Given the description of an element on the screen output the (x, y) to click on. 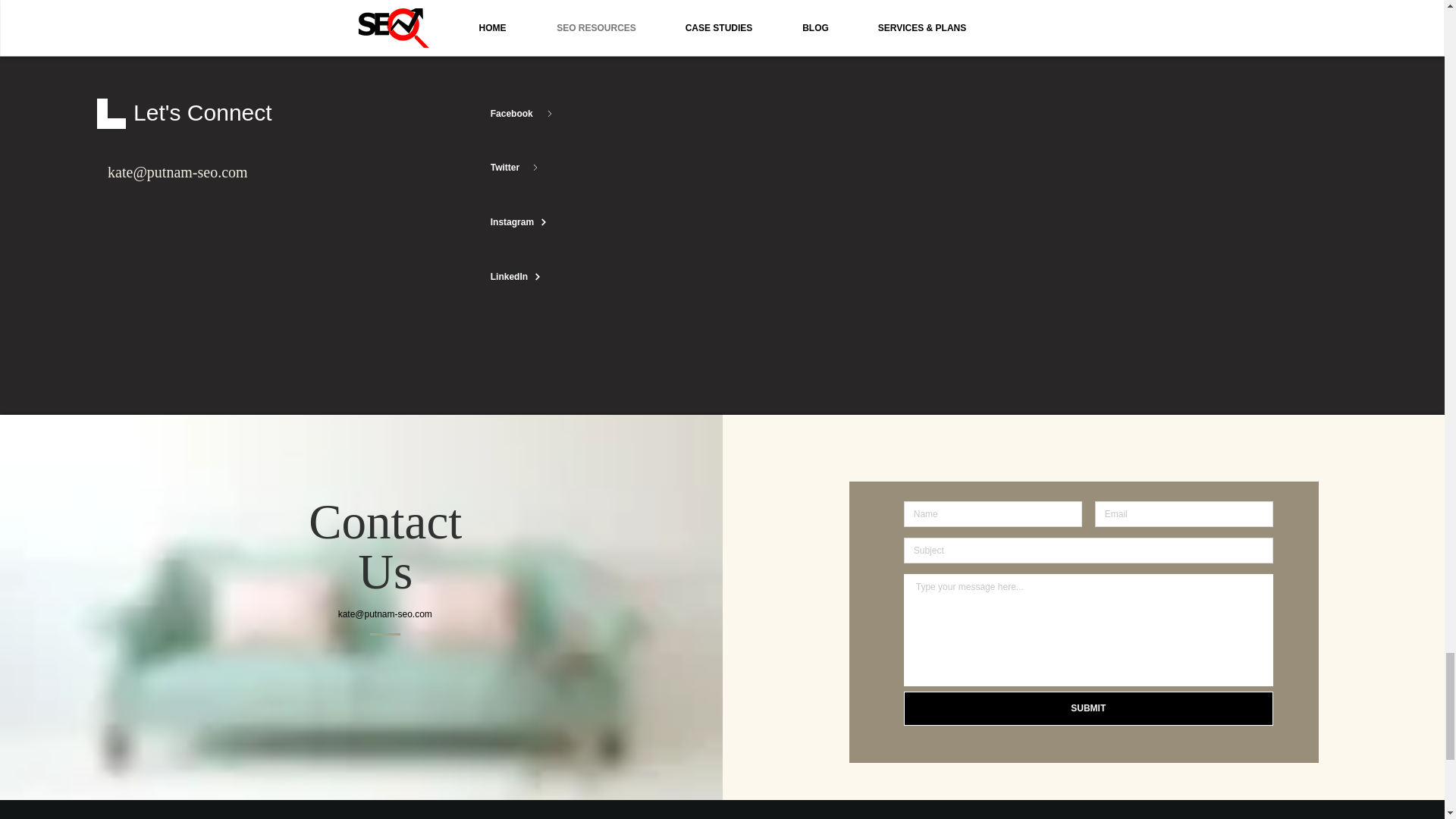
Instagram (544, 222)
Twitter (544, 167)
SUBMIT (1088, 708)
Facebook (544, 113)
LinkedIn (544, 276)
